Given the description of an element on the screen output the (x, y) to click on. 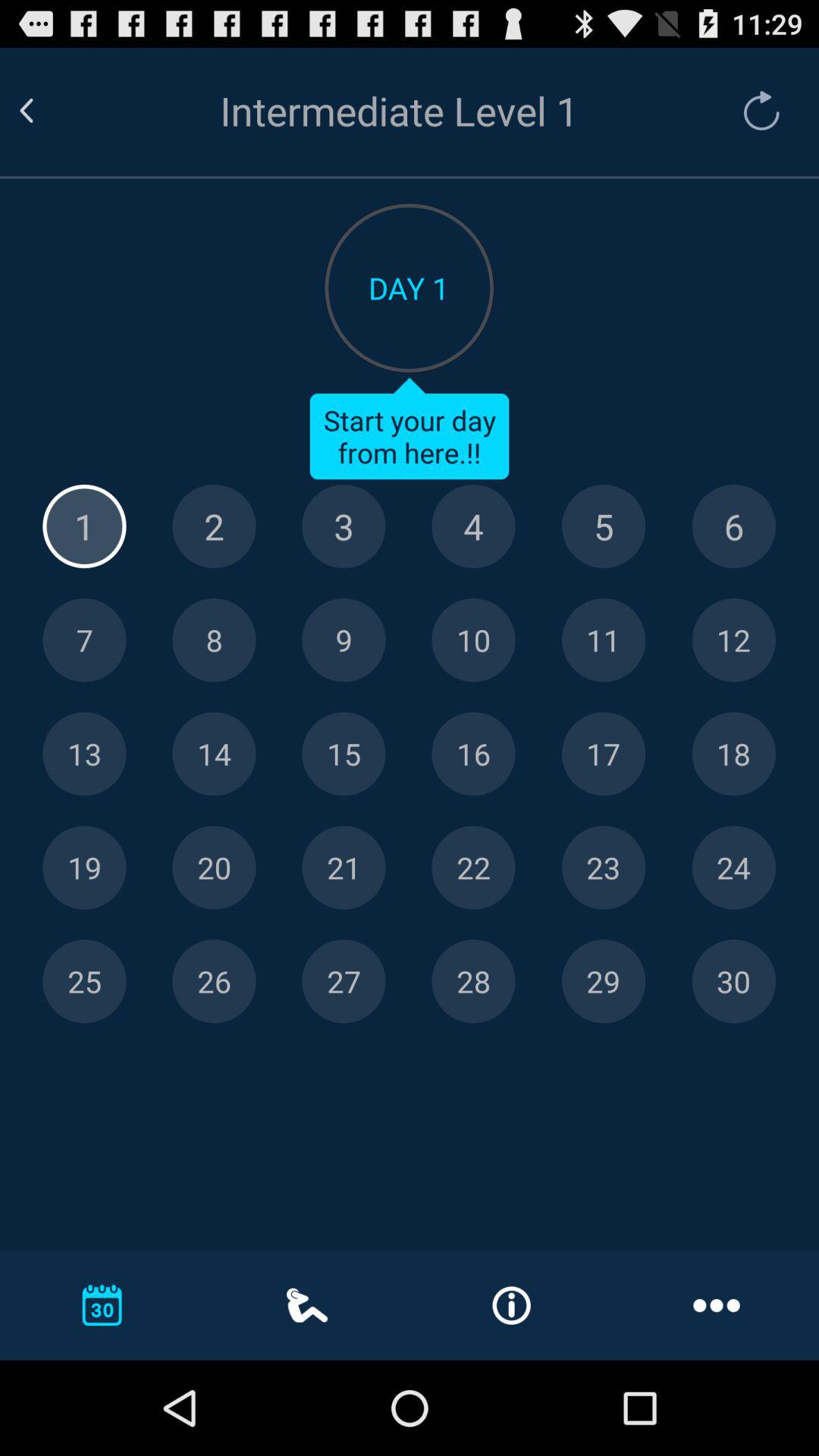
click the day 26 (213, 981)
